Given the description of an element on the screen output the (x, y) to click on. 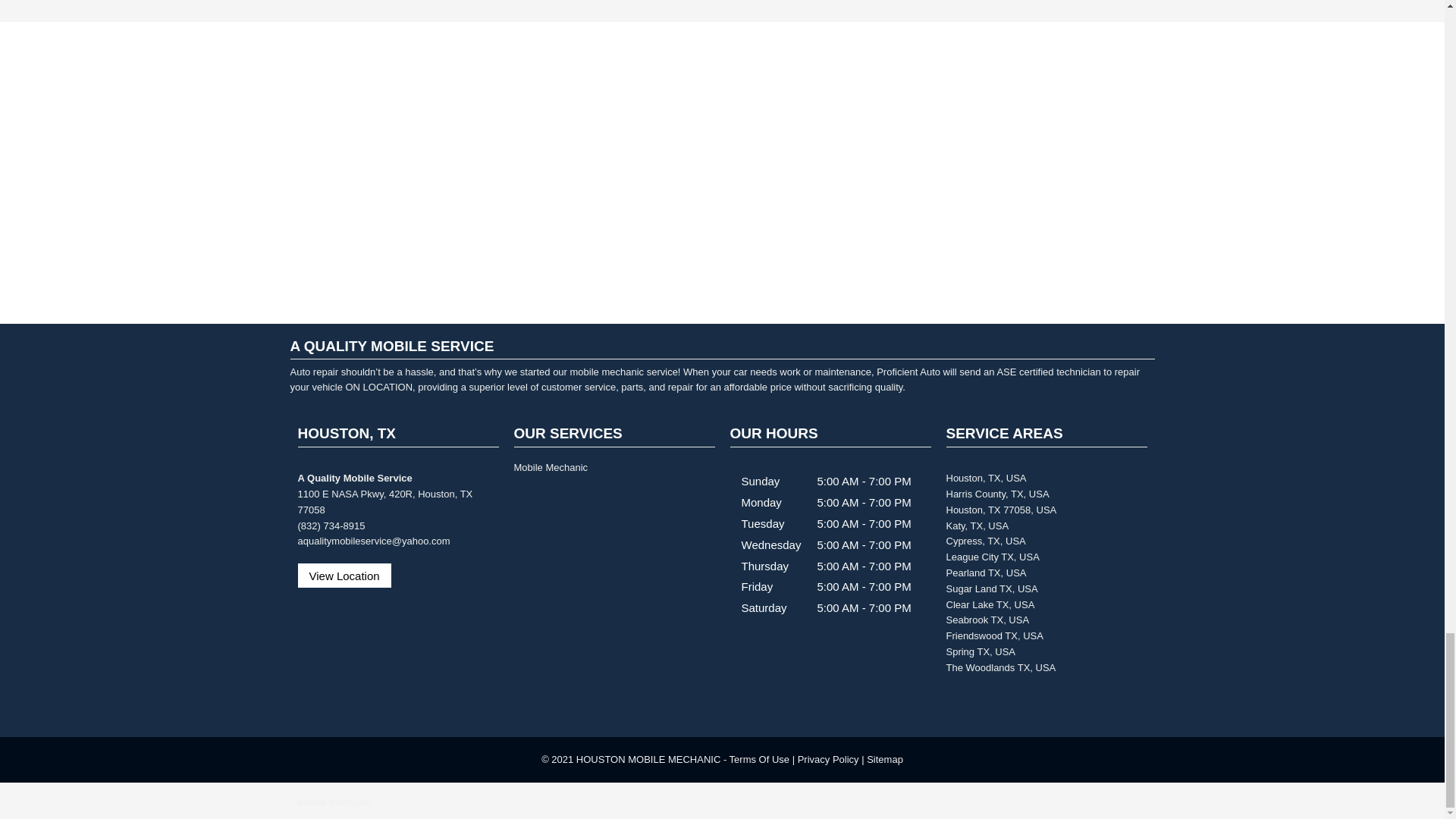
View Location (343, 575)
